Given the description of an element on the screen output the (x, y) to click on. 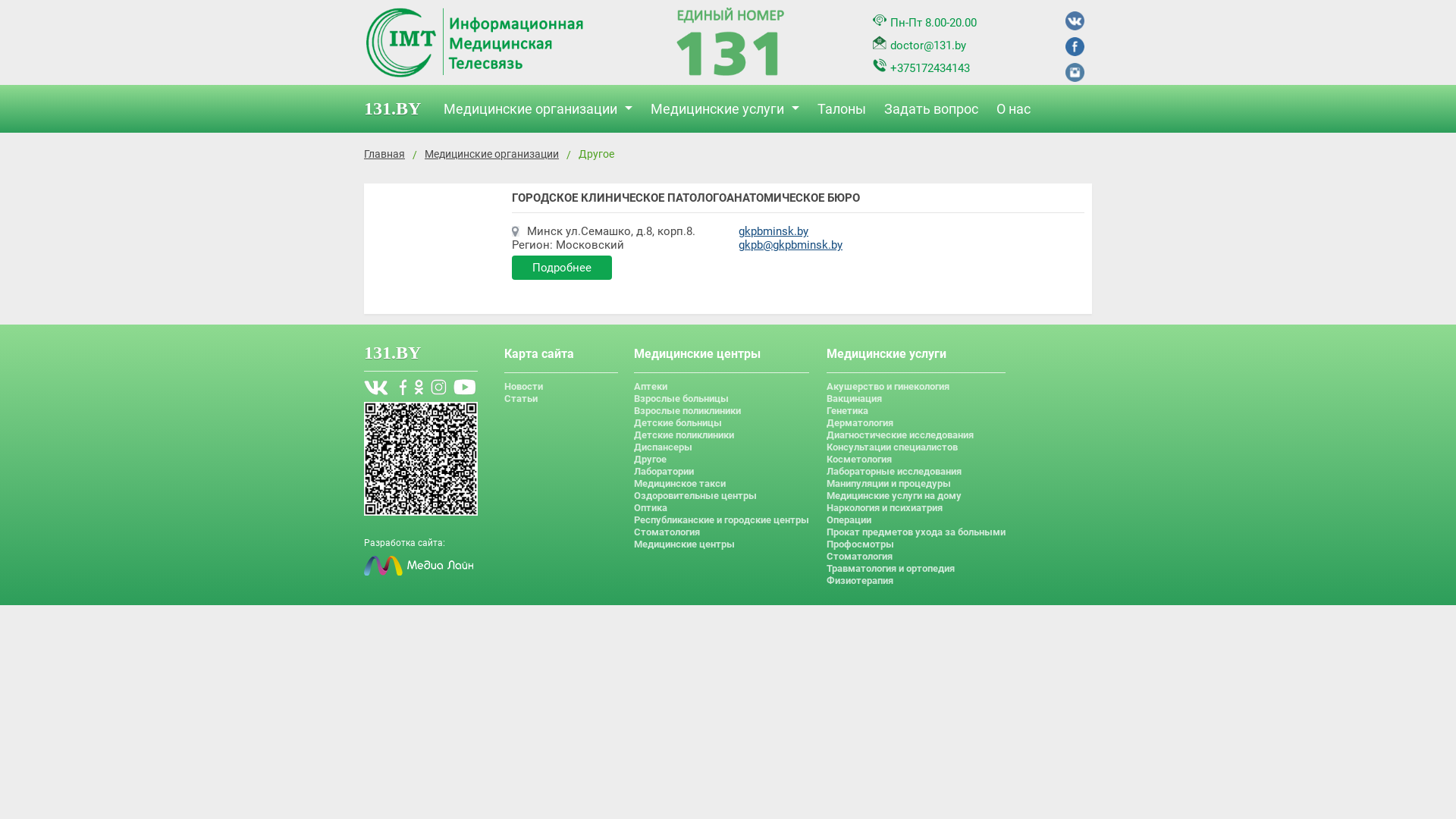
IMT Element type: hover (730, 43)
gkpb@gkpbminsk.by Element type: text (790, 244)
gkpbminsk.by Element type: text (773, 231)
131.BY Element type: text (392, 352)
131.BY Element type: text (400, 108)
